Given the description of an element on the screen output the (x, y) to click on. 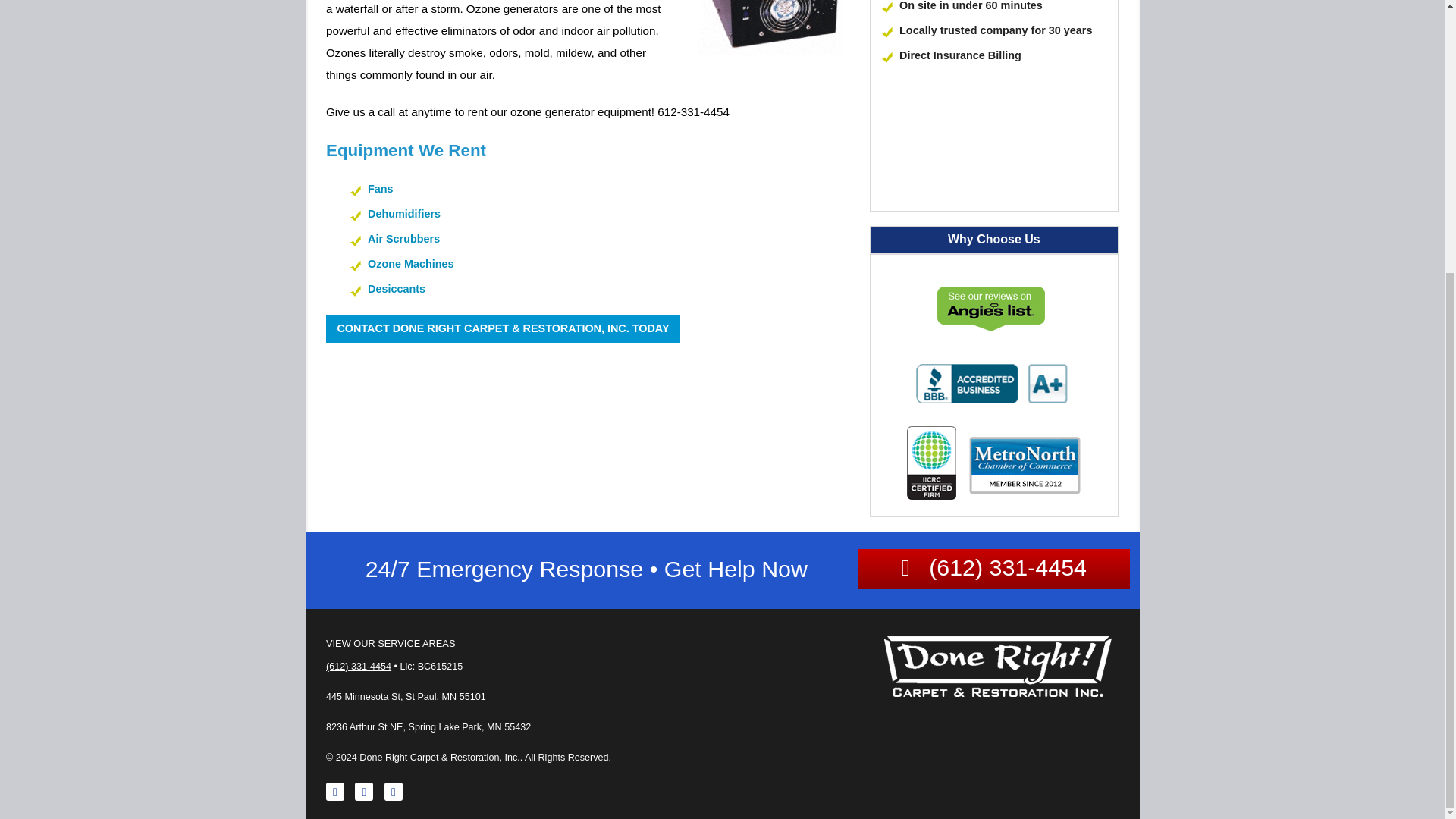
Mold Detection (469, 17)
Mold Removal (469, 2)
Sewage Cleanup (469, 71)
YouTube video player (994, 148)
Contents Restoration (469, 44)
